Given the description of an element on the screen output the (x, y) to click on. 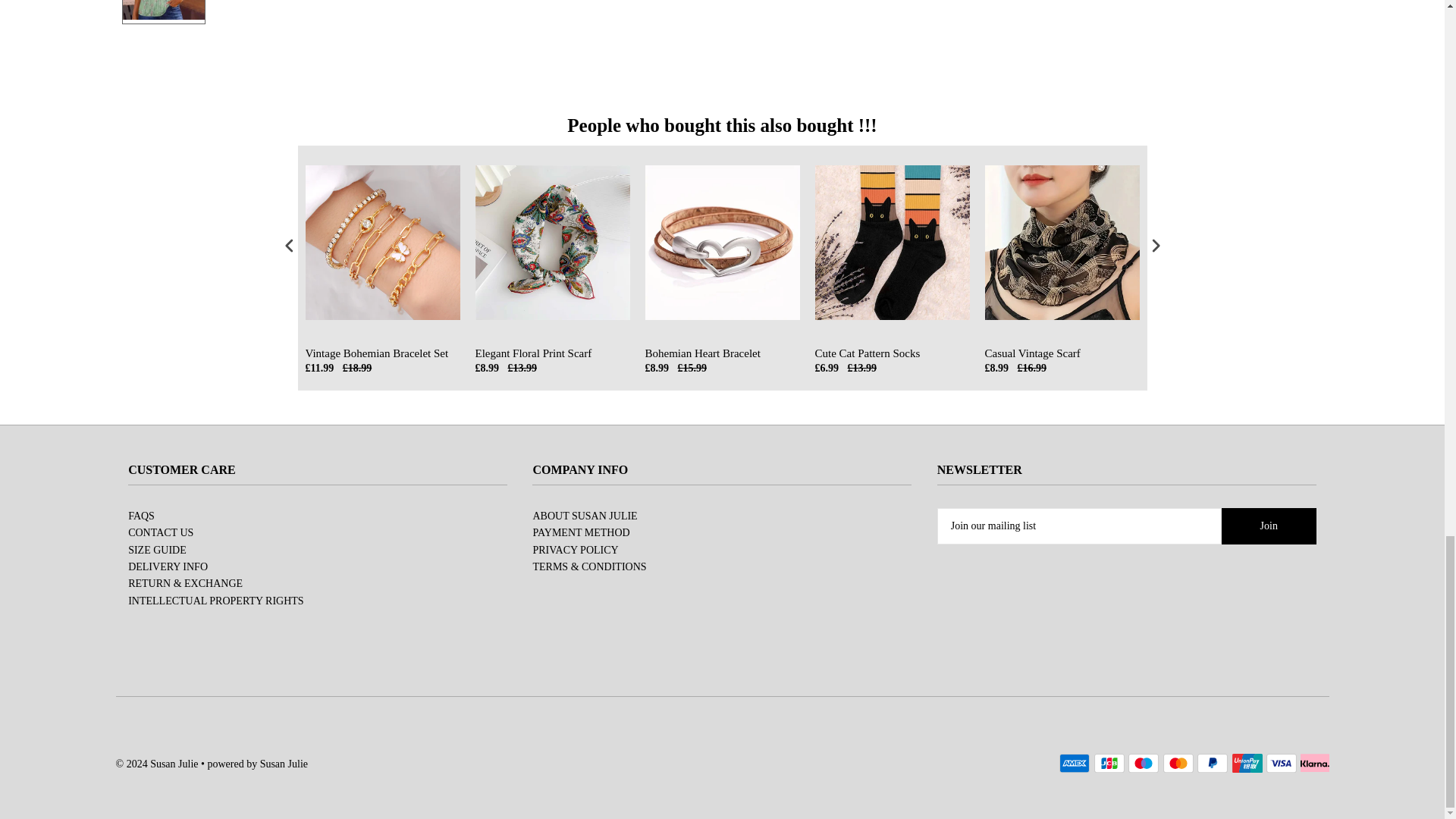
Maestro (1143, 763)
Mastercard (1178, 763)
Visa (1281, 763)
JCB (1108, 763)
PayPal (1211, 763)
Union Pay (1246, 763)
American Express (1074, 763)
Join (1268, 525)
